Given the description of an element on the screen output the (x, y) to click on. 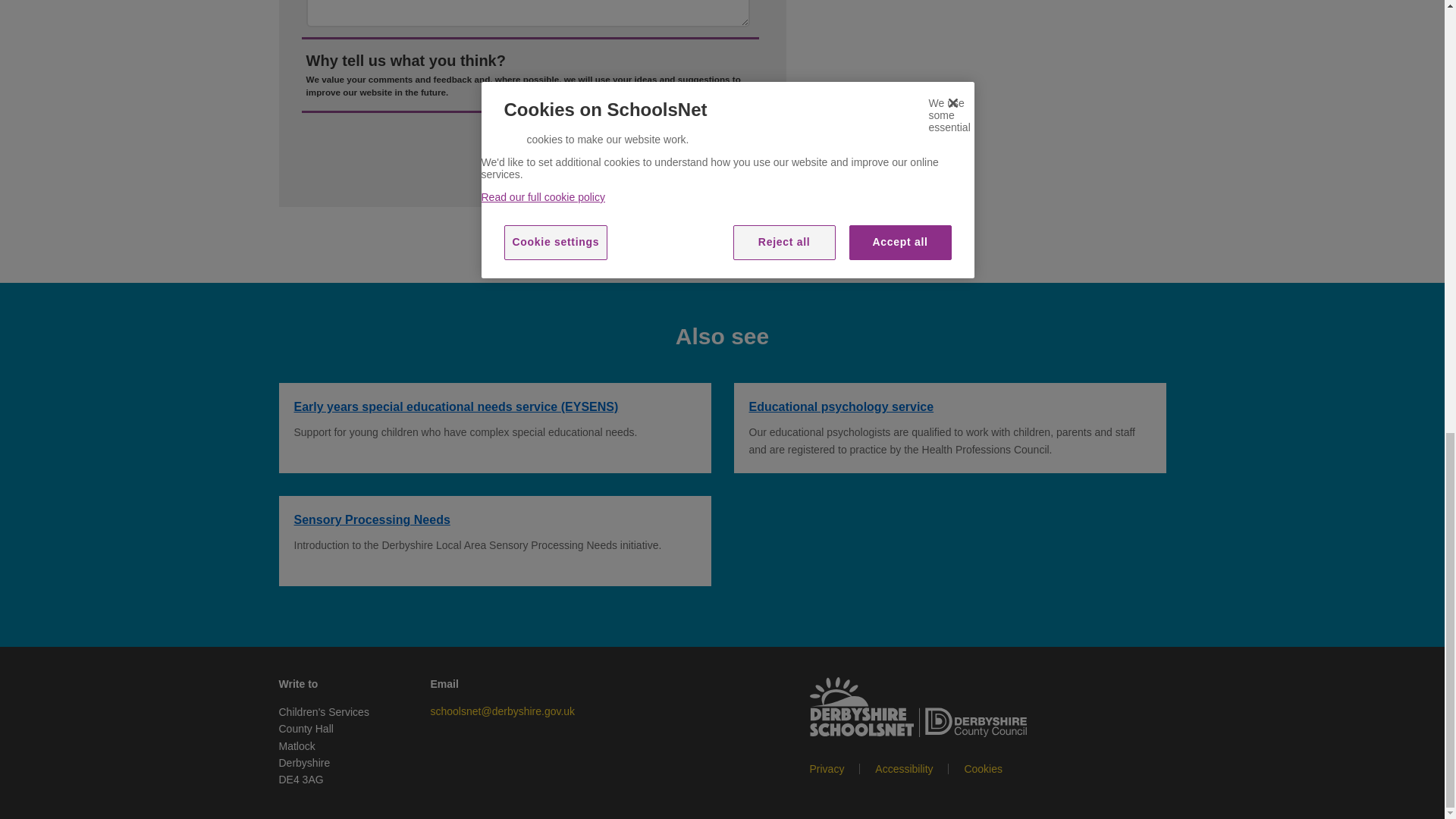
cookies (975, 768)
Accessibility (896, 768)
Privacy (826, 768)
privacy (826, 768)
accessibility (896, 768)
Cookies (975, 768)
Submit (731, 145)
